Given the description of an element on the screen output the (x, y) to click on. 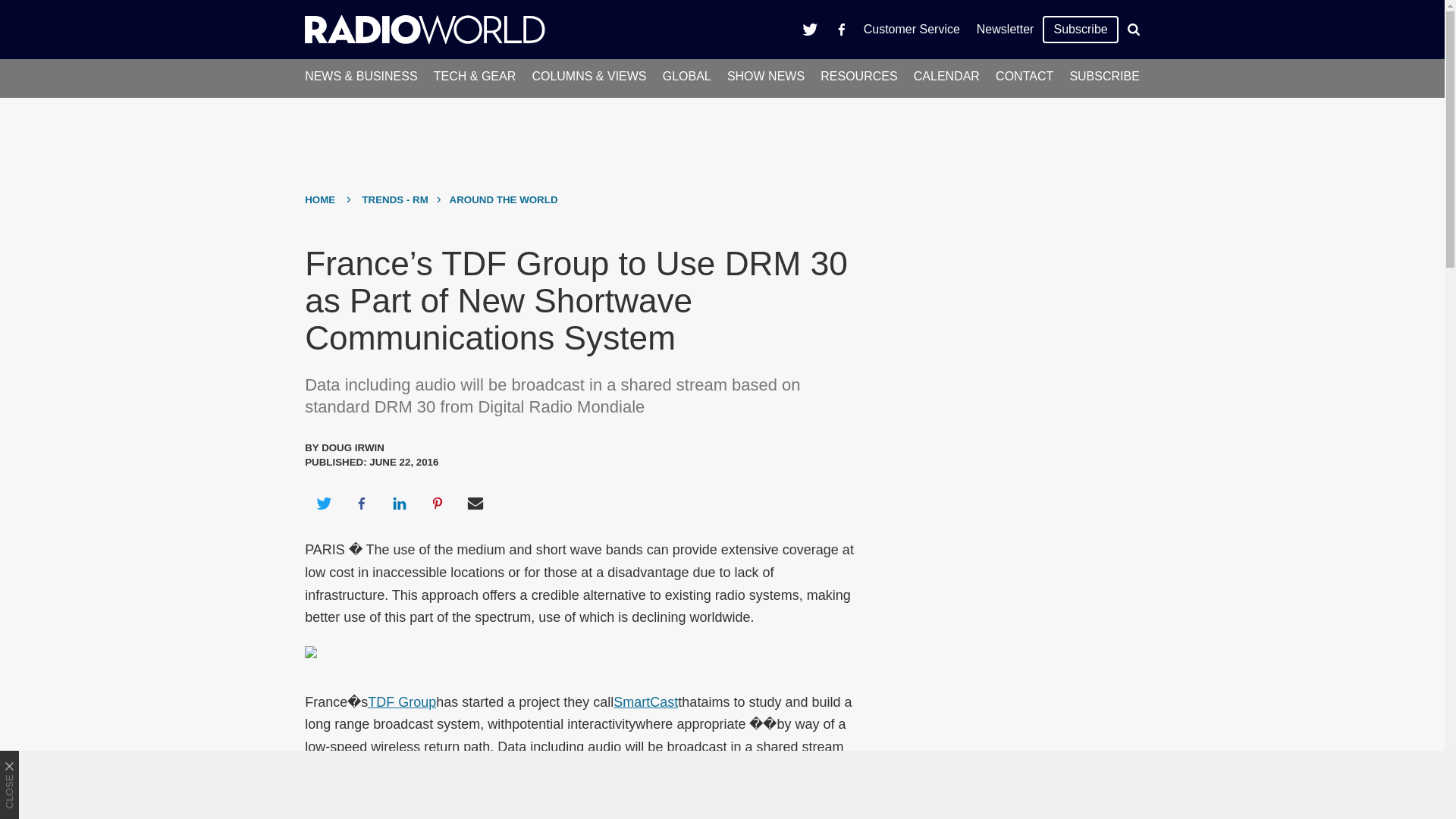
Share on Pinterest (438, 503)
Share on Twitter (323, 503)
Share on LinkedIn (399, 503)
Share on Facebook (361, 503)
Share via Email (476, 503)
Customer Service (912, 29)
